Given the description of an element on the screen output the (x, y) to click on. 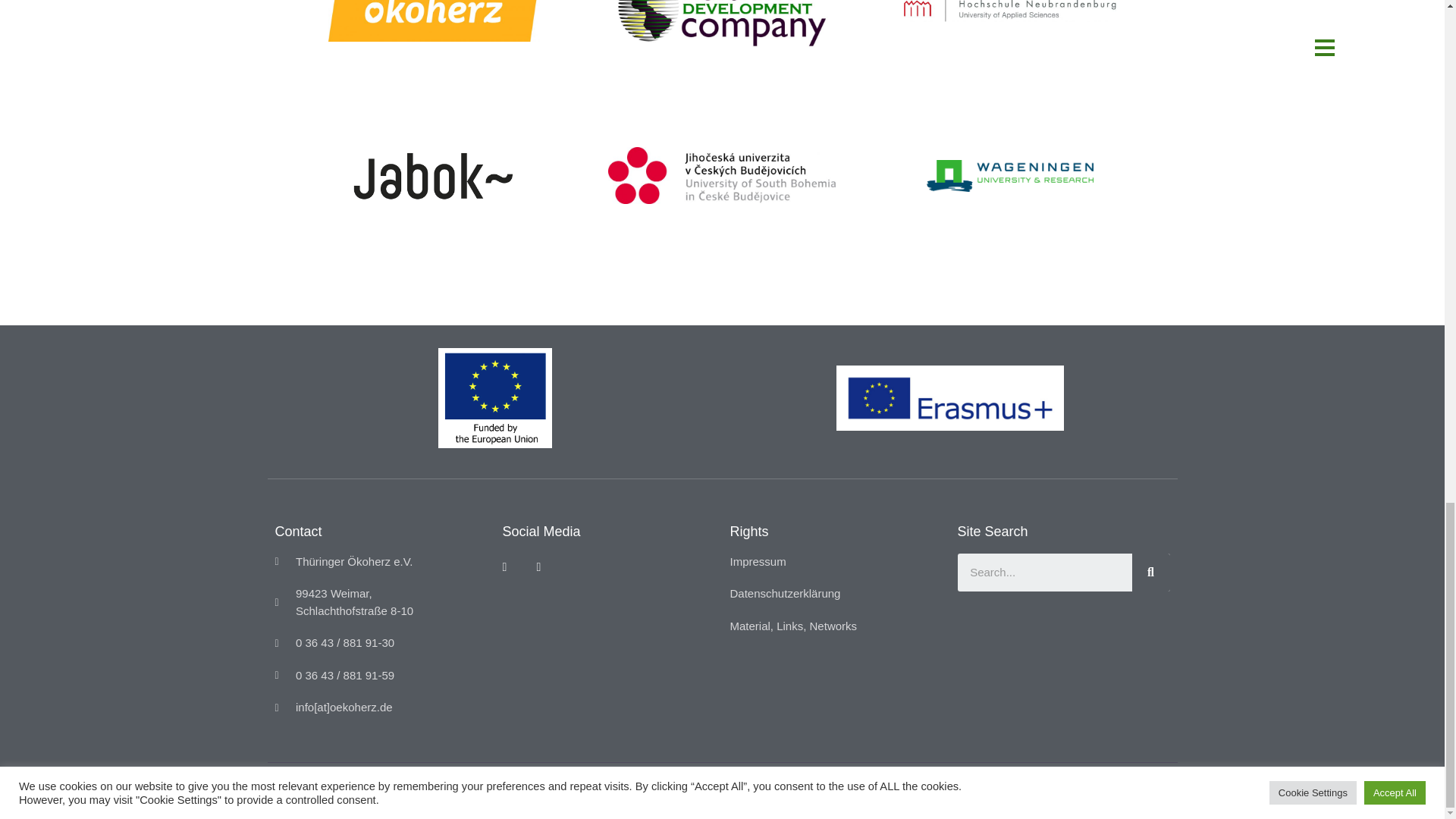
Material, Links, Networks (835, 626)
Impressum (835, 561)
Suche (1043, 572)
Suche (1150, 572)
